Given the description of an element on the screen output the (x, y) to click on. 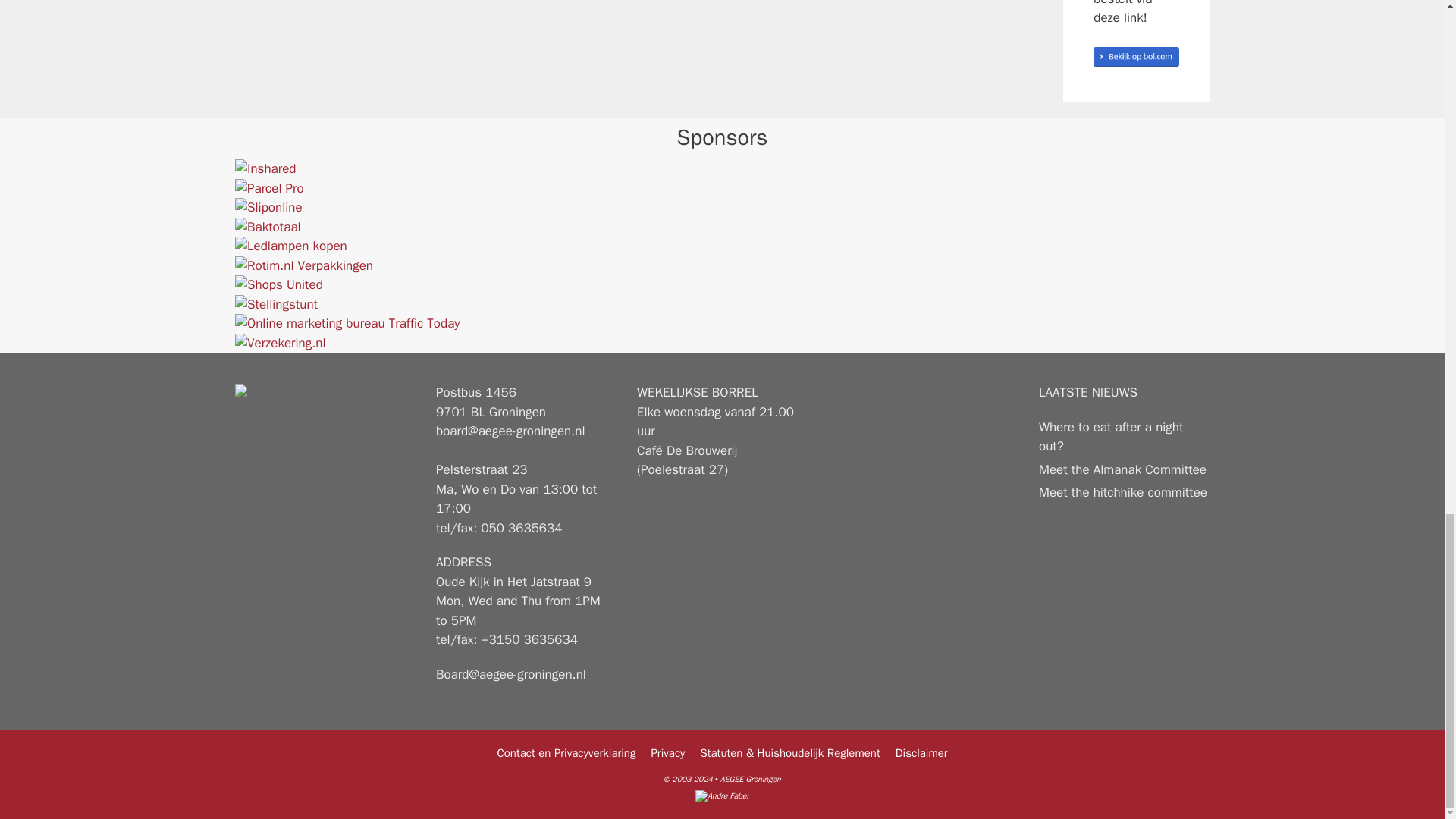
Traffic Today (347, 323)
Shops United (265, 168)
Sliponline (278, 284)
Andre Faber (268, 207)
Rotimshop (722, 795)
Bekijk op bol.com (303, 265)
Stellingstunt (1136, 56)
Verzekering.nl (275, 304)
Ledlampen kopen (280, 342)
Parcel Pro (290, 245)
